Given the description of an element on the screen output the (x, y) to click on. 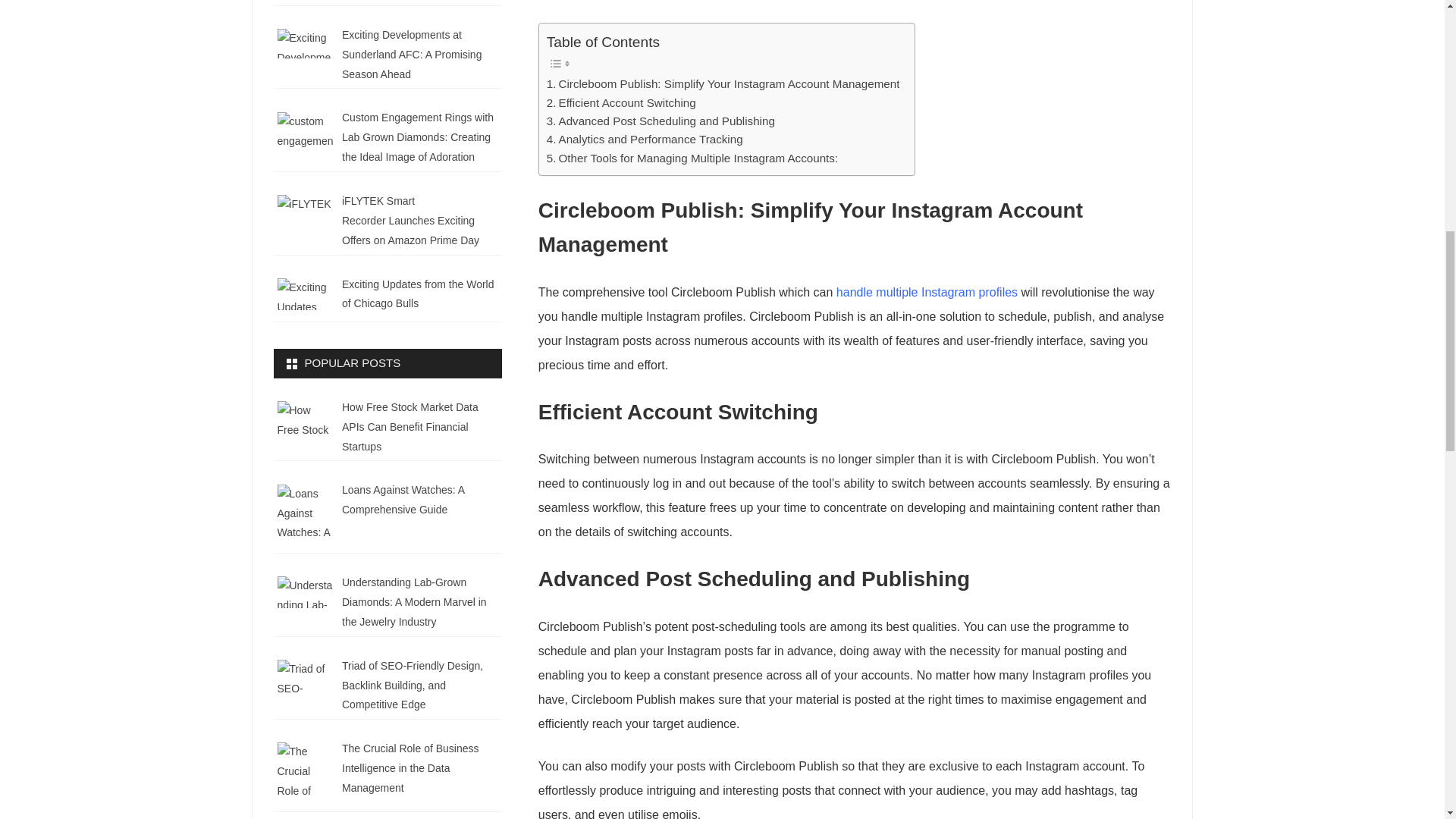
Efficient Account Switching (621, 103)
Advanced Post Scheduling and Publishing (660, 121)
Other Tools for Managing Multiple Instagram Accounts: (692, 158)
Analytics and Performance Tracking (644, 139)
custom engagement rings (306, 130)
iFLYTEK (306, 214)
